Given the description of an element on the screen output the (x, y) to click on. 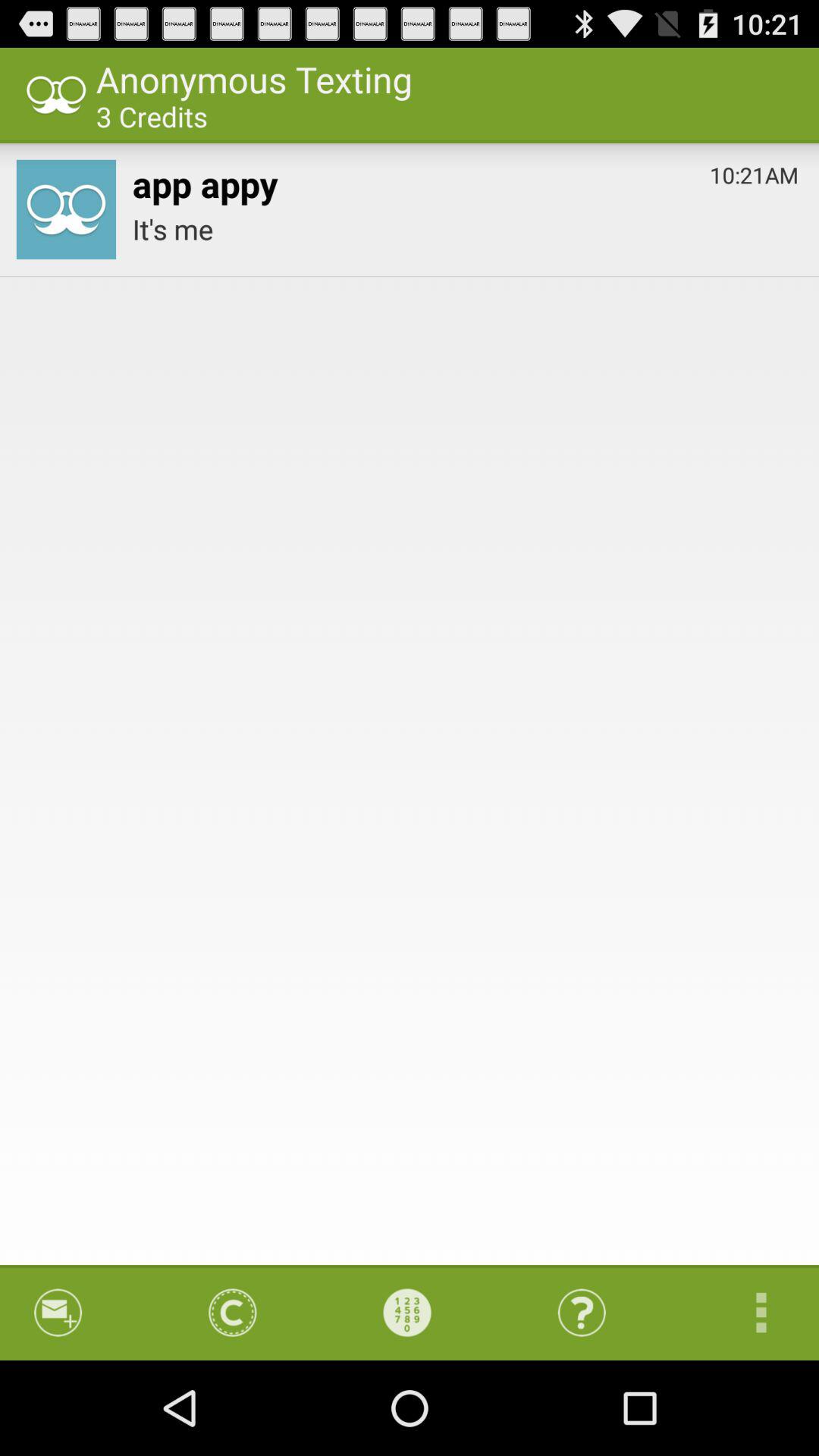
tap the icon below 3 credits icon (205, 180)
